Given the description of an element on the screen output the (x, y) to click on. 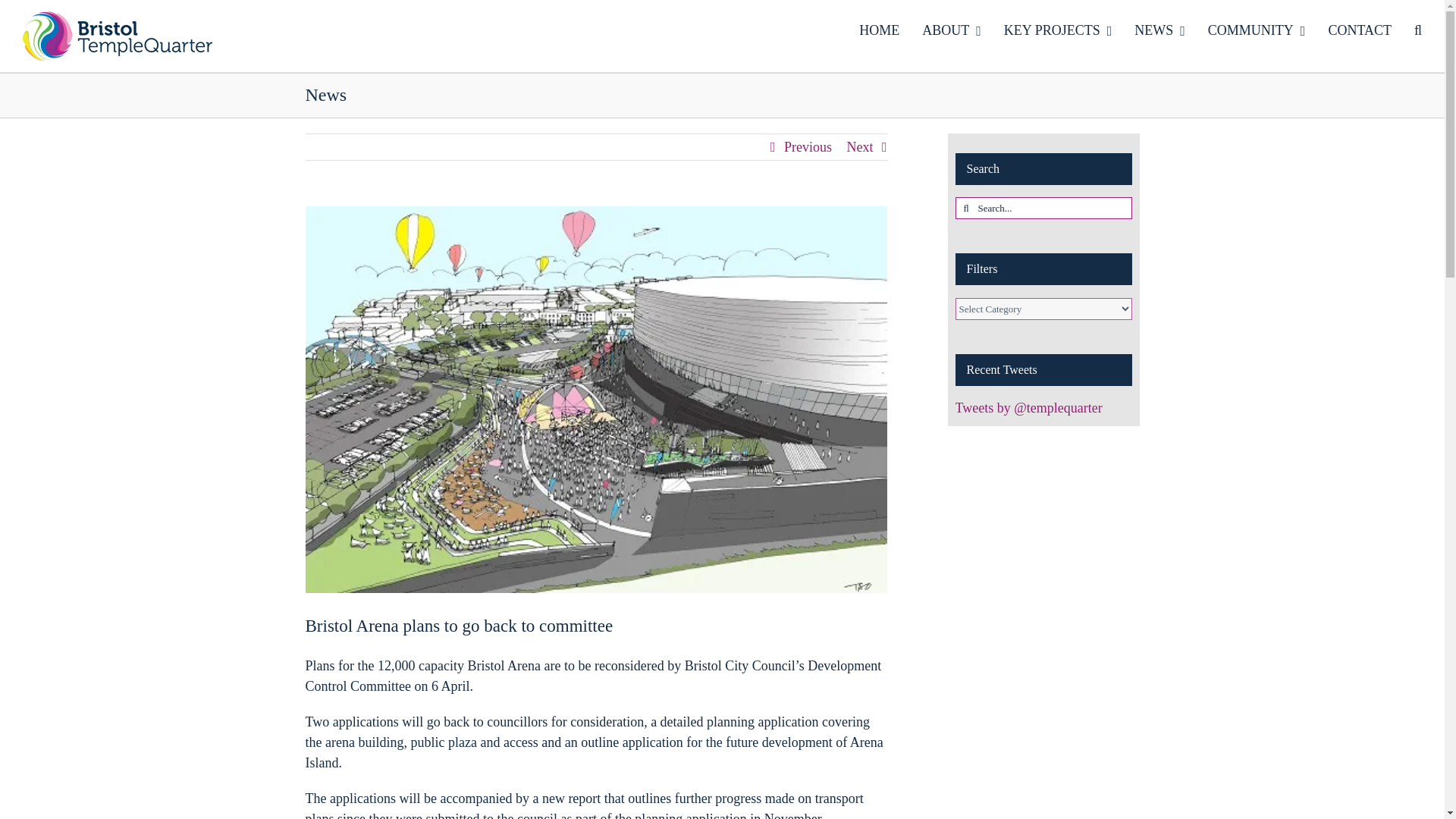
ABOUT (951, 30)
Next (858, 146)
COMMUNITY (1257, 30)
CONTACT (1359, 30)
Previous (807, 146)
KEY PROJECTS (1058, 30)
